Given the description of an element on the screen output the (x, y) to click on. 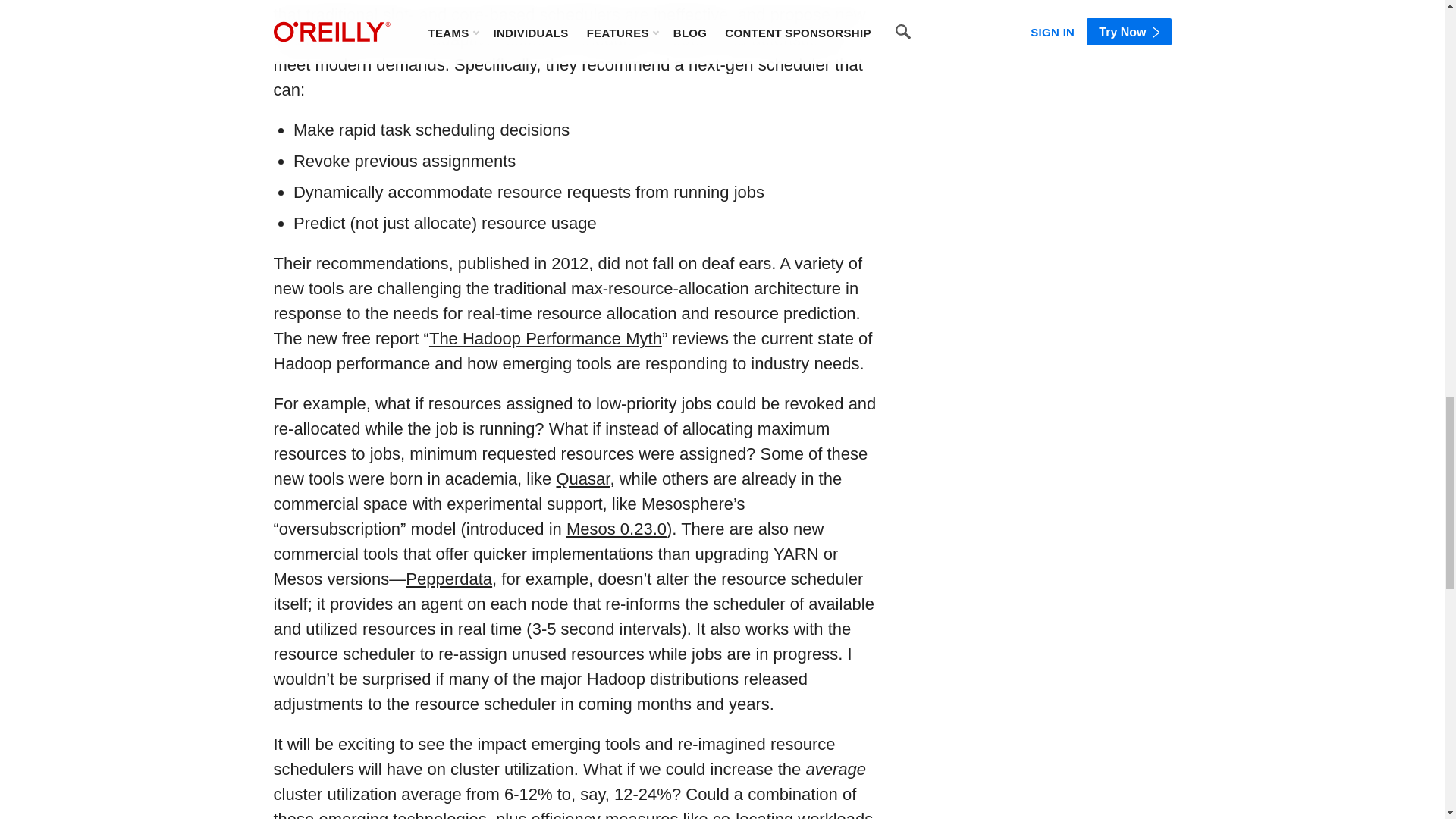
The Hadoop Performance Myth (545, 338)
